Given the description of an element on the screen output the (x, y) to click on. 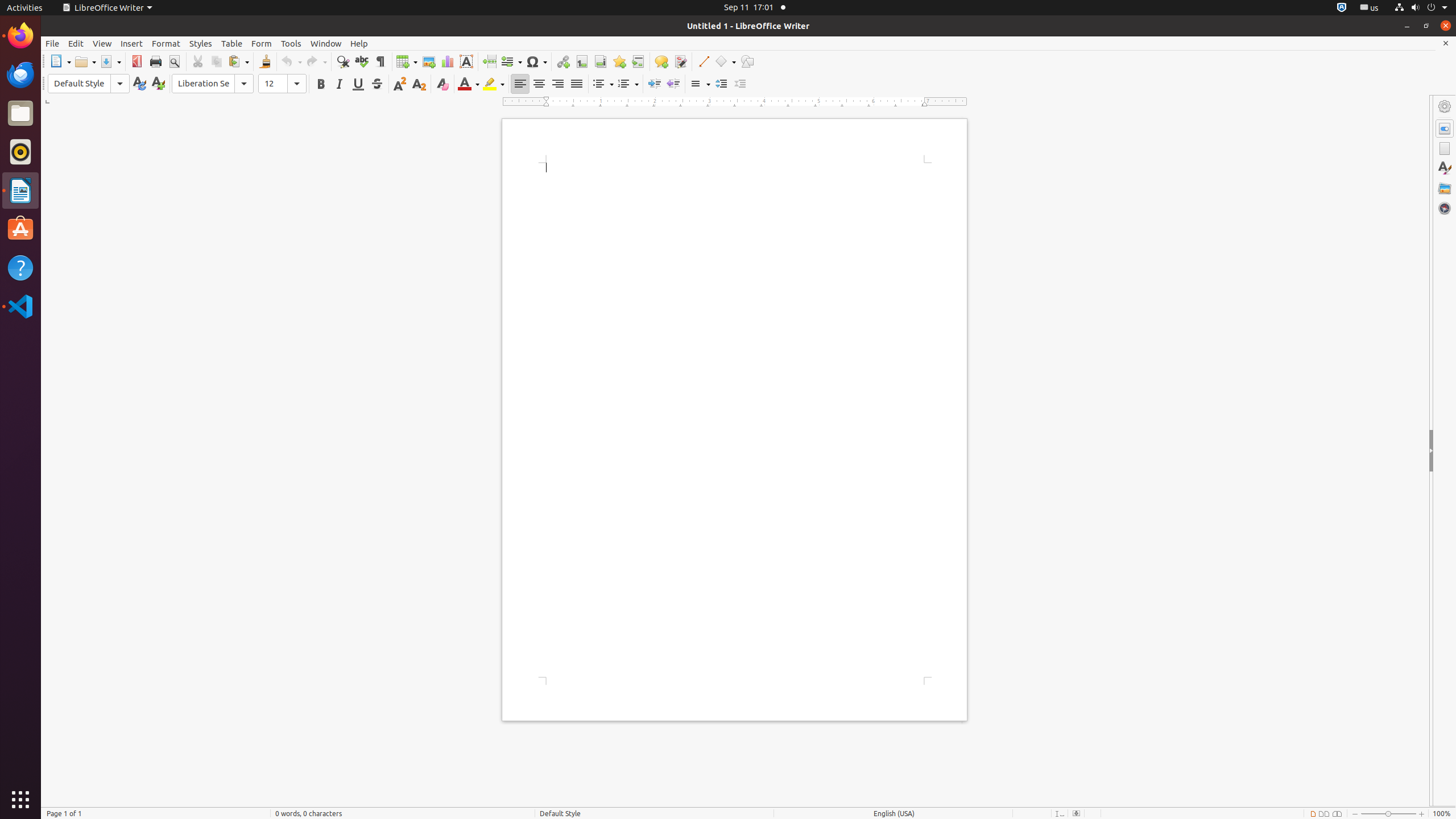
Field Element type: push-button (510, 61)
Navigator Element type: radio-button (1444, 208)
Left Element type: toggle-button (519, 83)
Paragraph Style Element type: combo-box (88, 83)
